Given the description of an element on the screen output the (x, y) to click on. 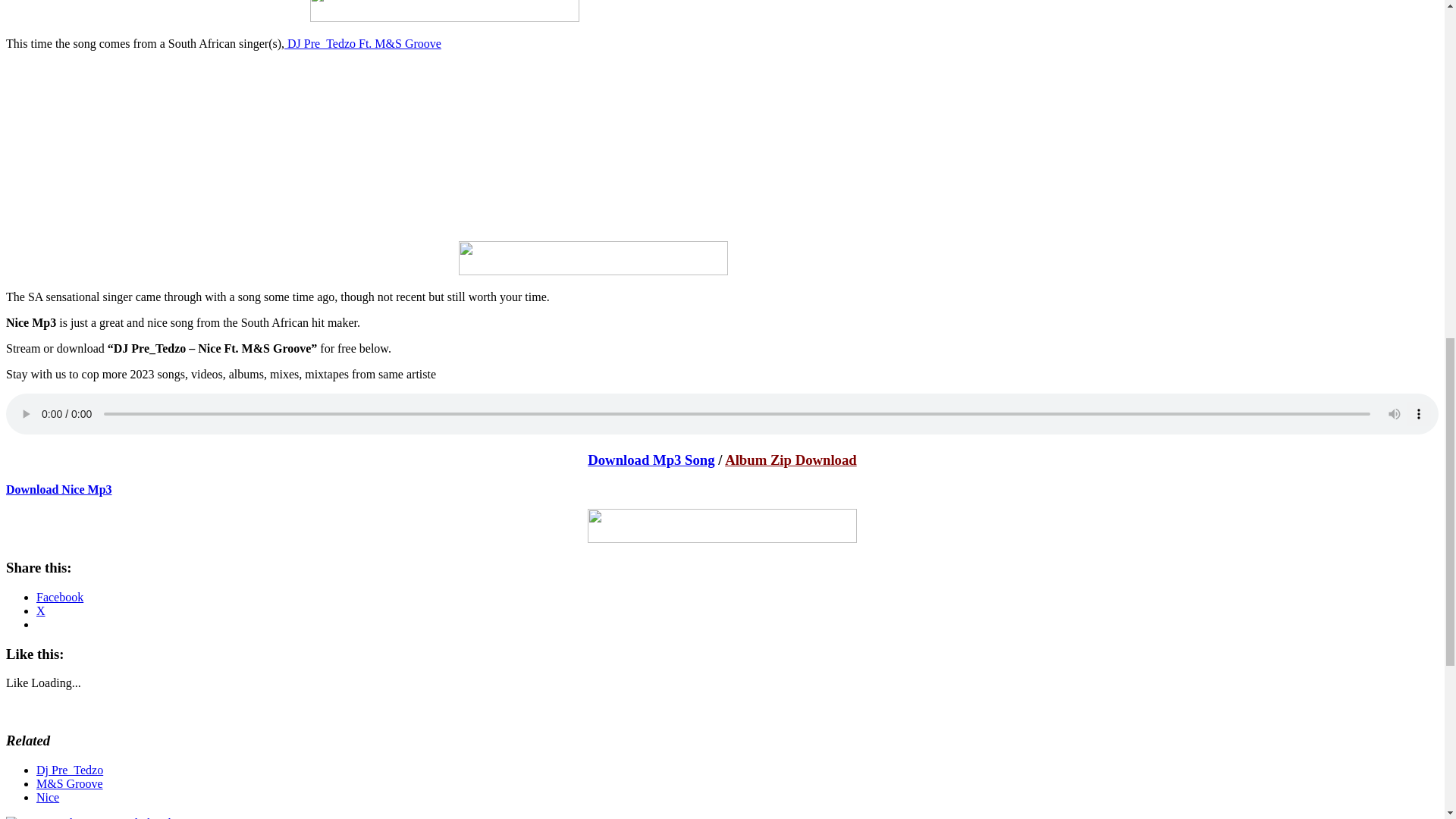
Facebook (59, 596)
Album Zip Download (791, 459)
Click to share on Facebook (59, 596)
Download Mp3 Song (651, 459)
Download Nice Mp3 (58, 488)
Nice (47, 797)
